Given the description of an element on the screen output the (x, y) to click on. 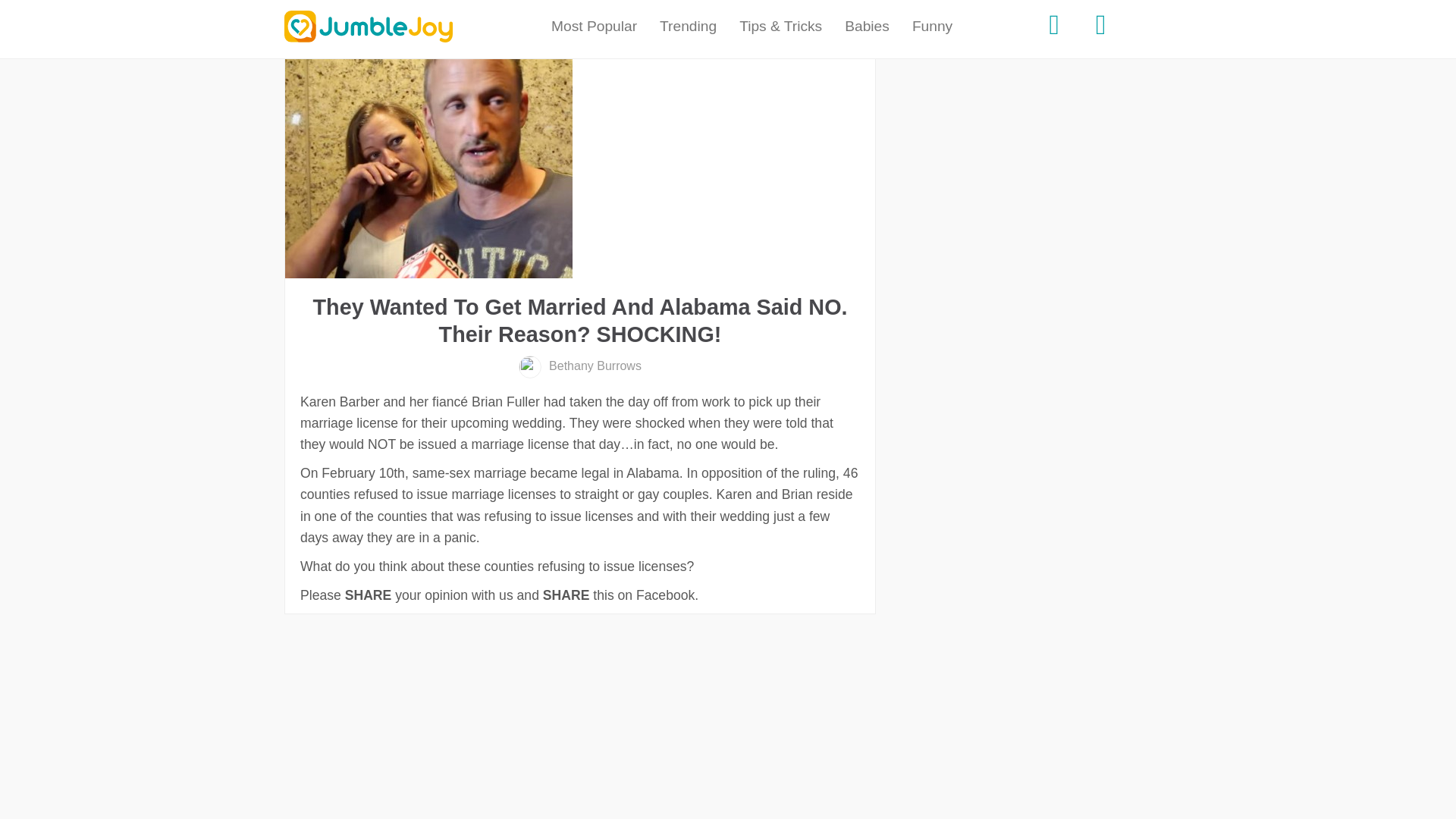
Babies (866, 26)
Trending (687, 26)
Most Popular (593, 26)
Funny (932, 26)
